Given the description of an element on the screen output the (x, y) to click on. 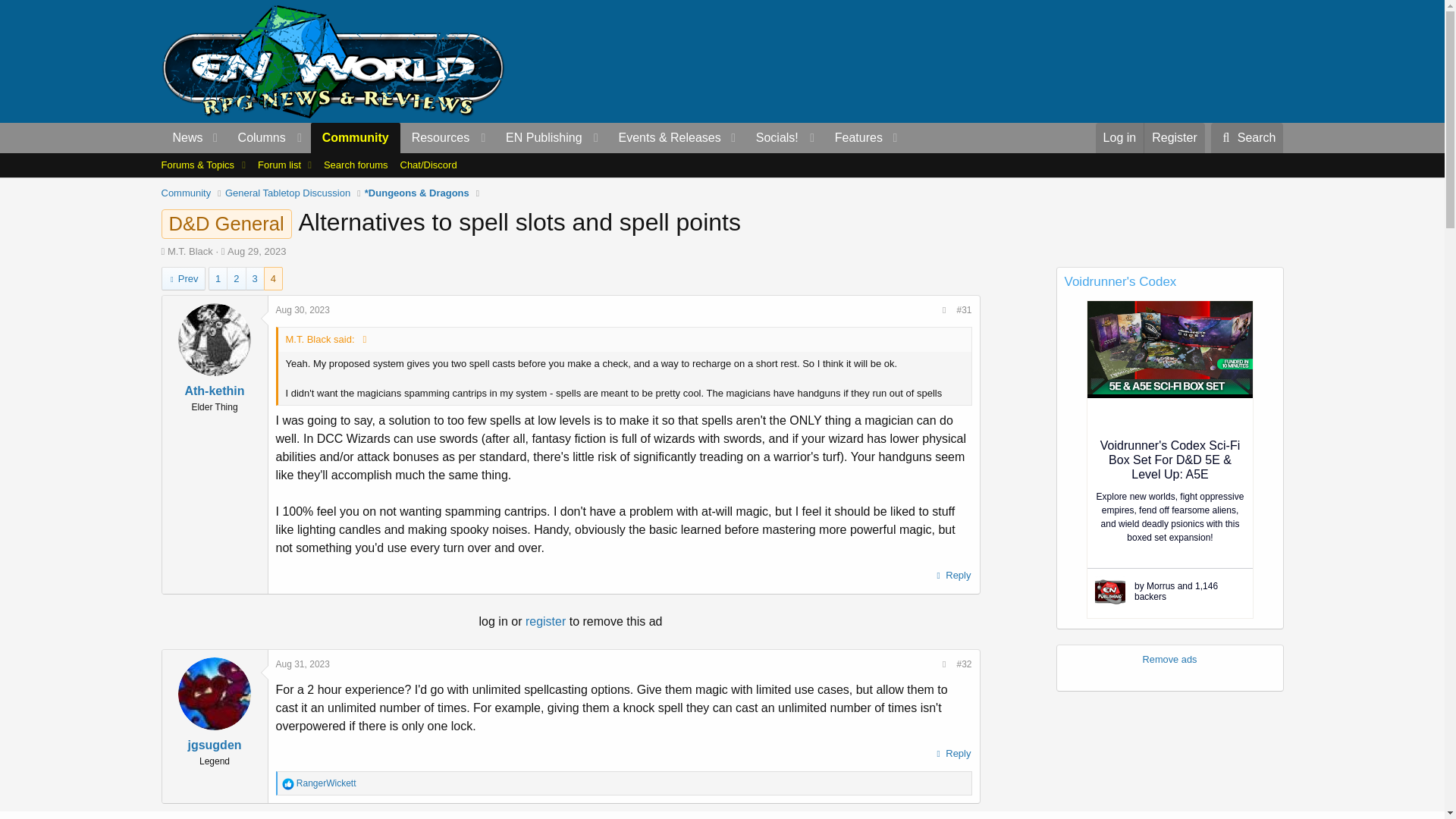
Aug 30, 2023 at 5:16 PM (303, 309)
Reply, quoting this message (952, 753)
Reply, quoting this message (952, 575)
Community (355, 137)
3rd party ad content (1006, 61)
Like (288, 784)
Aug 31, 2023 at 3:26 AM (303, 664)
News (181, 137)
Aug 29, 2023 at 1:22 AM (256, 251)
Search (1247, 137)
